Given the description of an element on the screen output the (x, y) to click on. 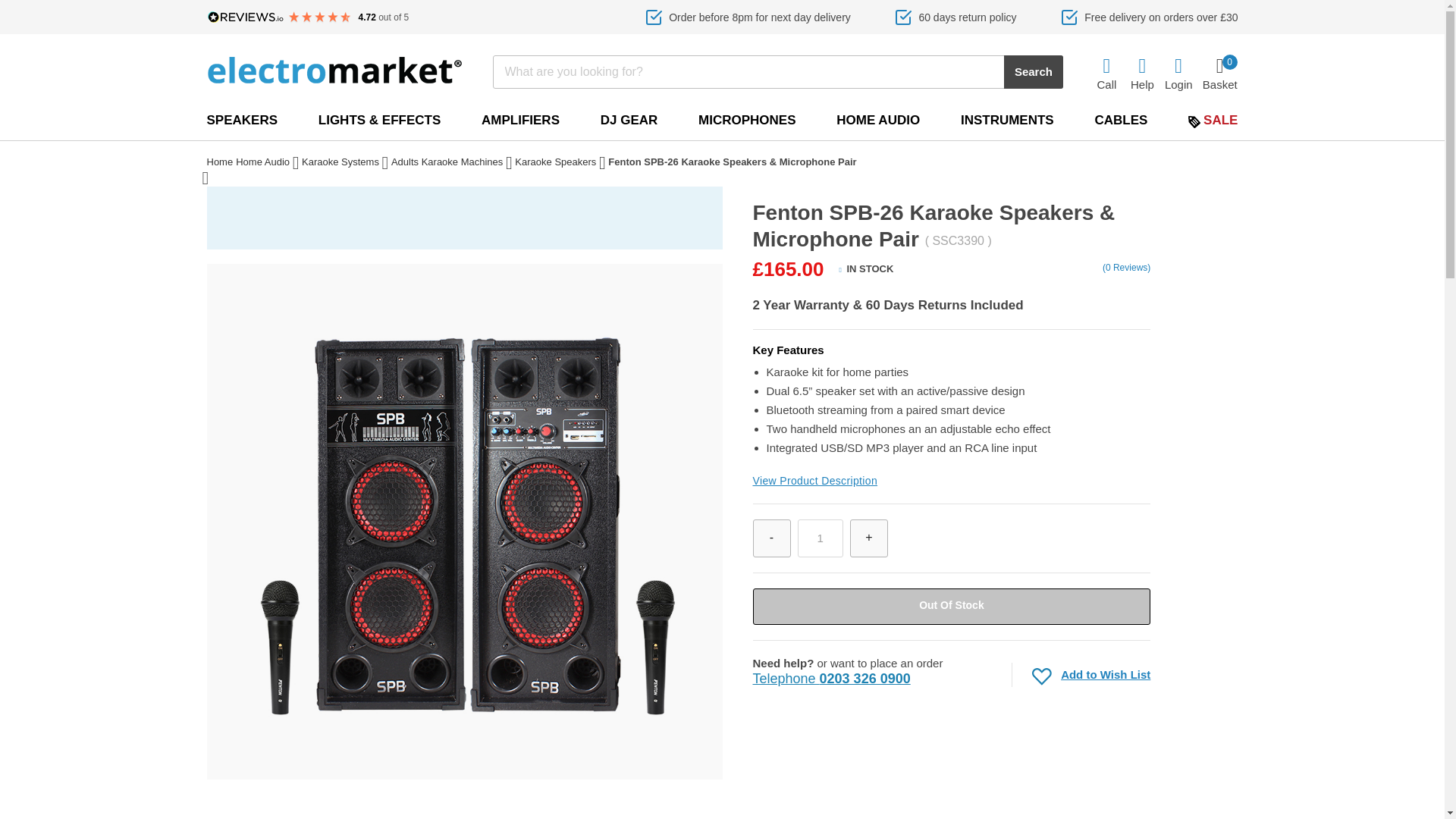
SPEAKERS (242, 120)
Qty (820, 538)
Availability (865, 270)
Search (1033, 71)
Go to Home Page (219, 163)
1 (820, 538)
Out Of Stock (951, 606)
ElectroMarket (333, 69)
Anchor to full description (814, 480)
- (771, 538)
